Given the description of an element on the screen output the (x, y) to click on. 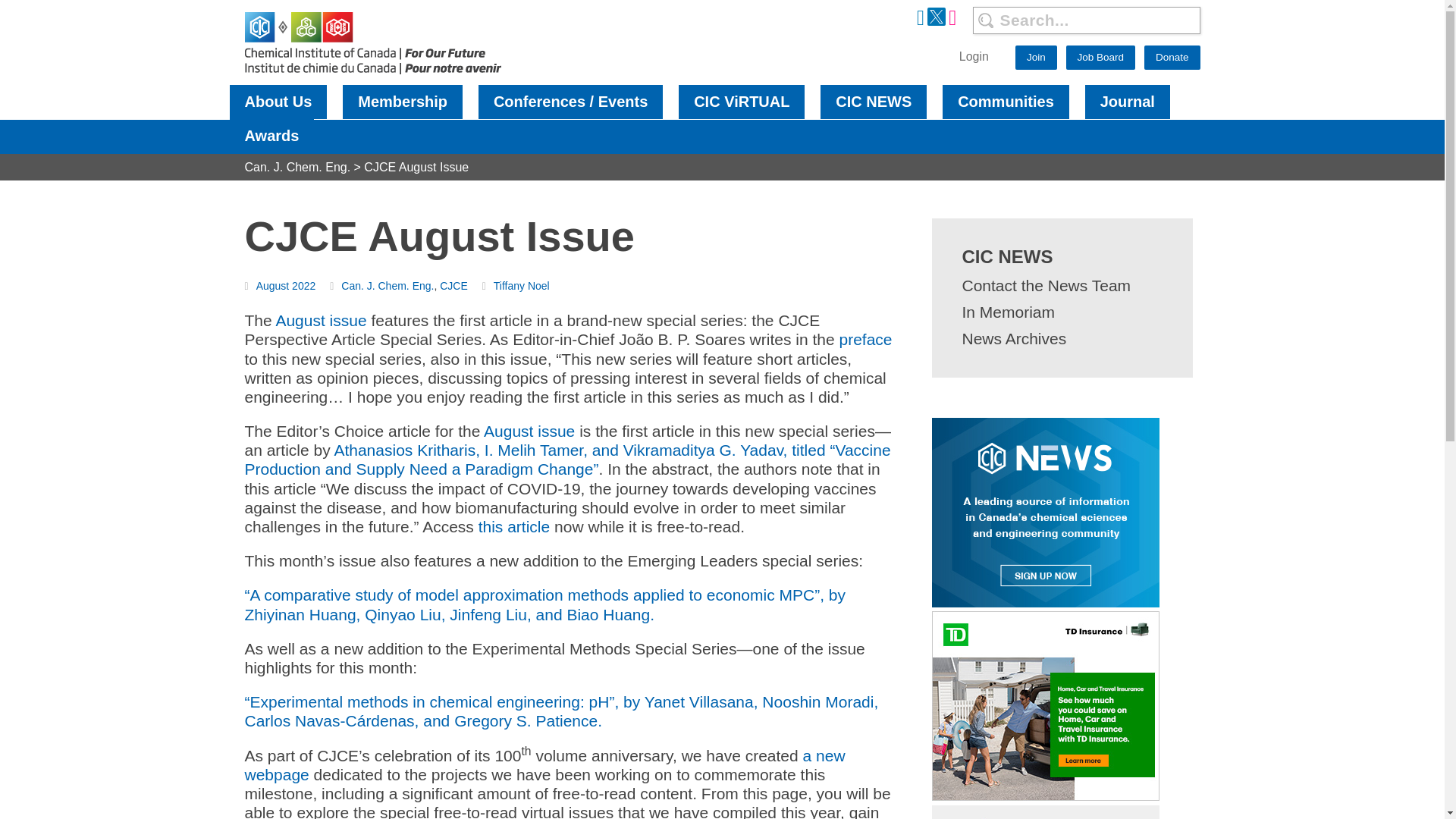
Job Board (1100, 57)
Donate (1171, 57)
About Us (277, 101)
Membership (402, 101)
Go to the Can. J. Chem. Eng. category archives. (297, 166)
Join (1035, 57)
Login (973, 56)
